Given the description of an element on the screen output the (x, y) to click on. 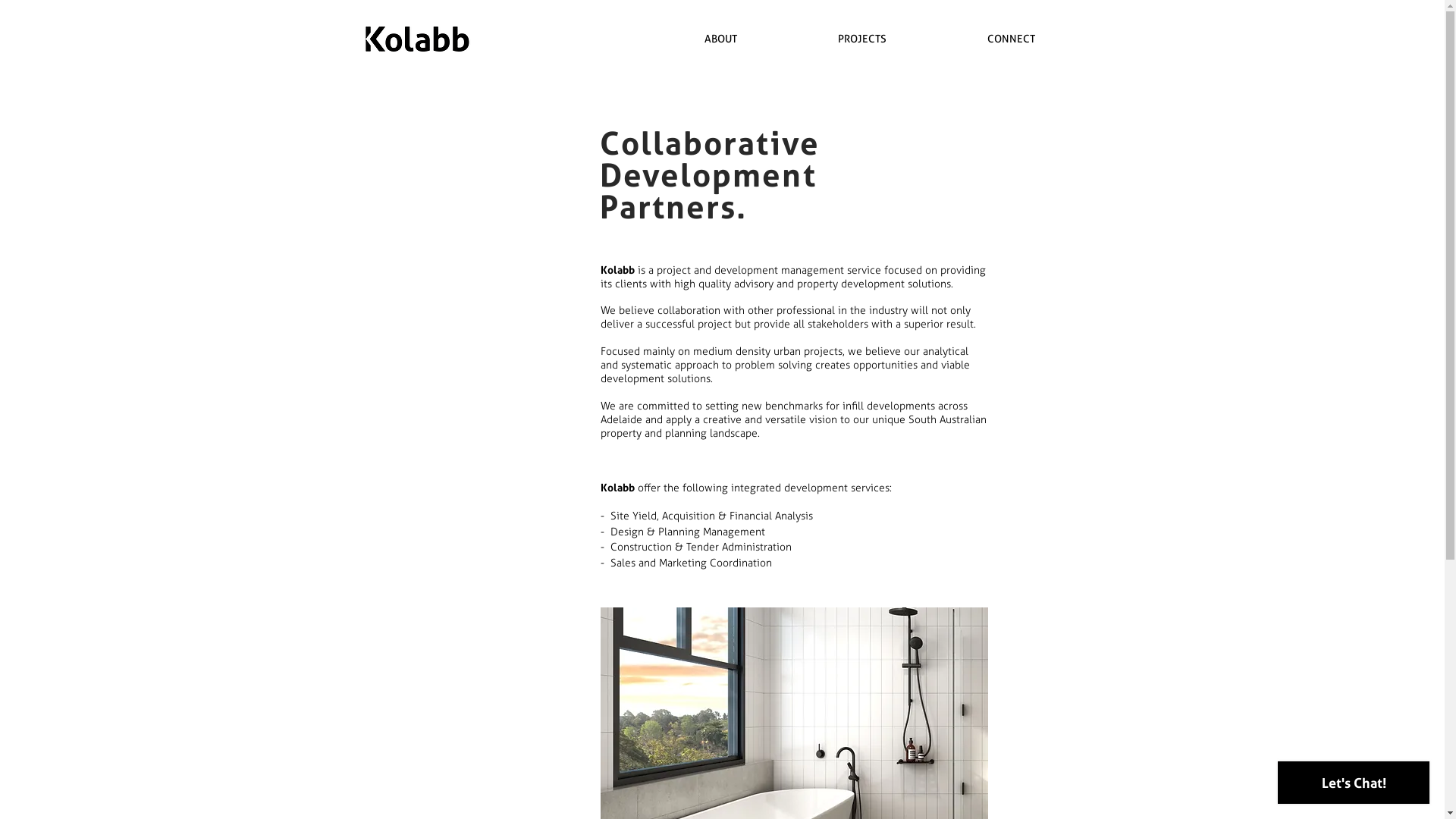
PROJECTS Element type: text (861, 38)
CONNECT Element type: text (1011, 38)
ABOUT Element type: text (720, 38)
